Given the description of an element on the screen output the (x, y) to click on. 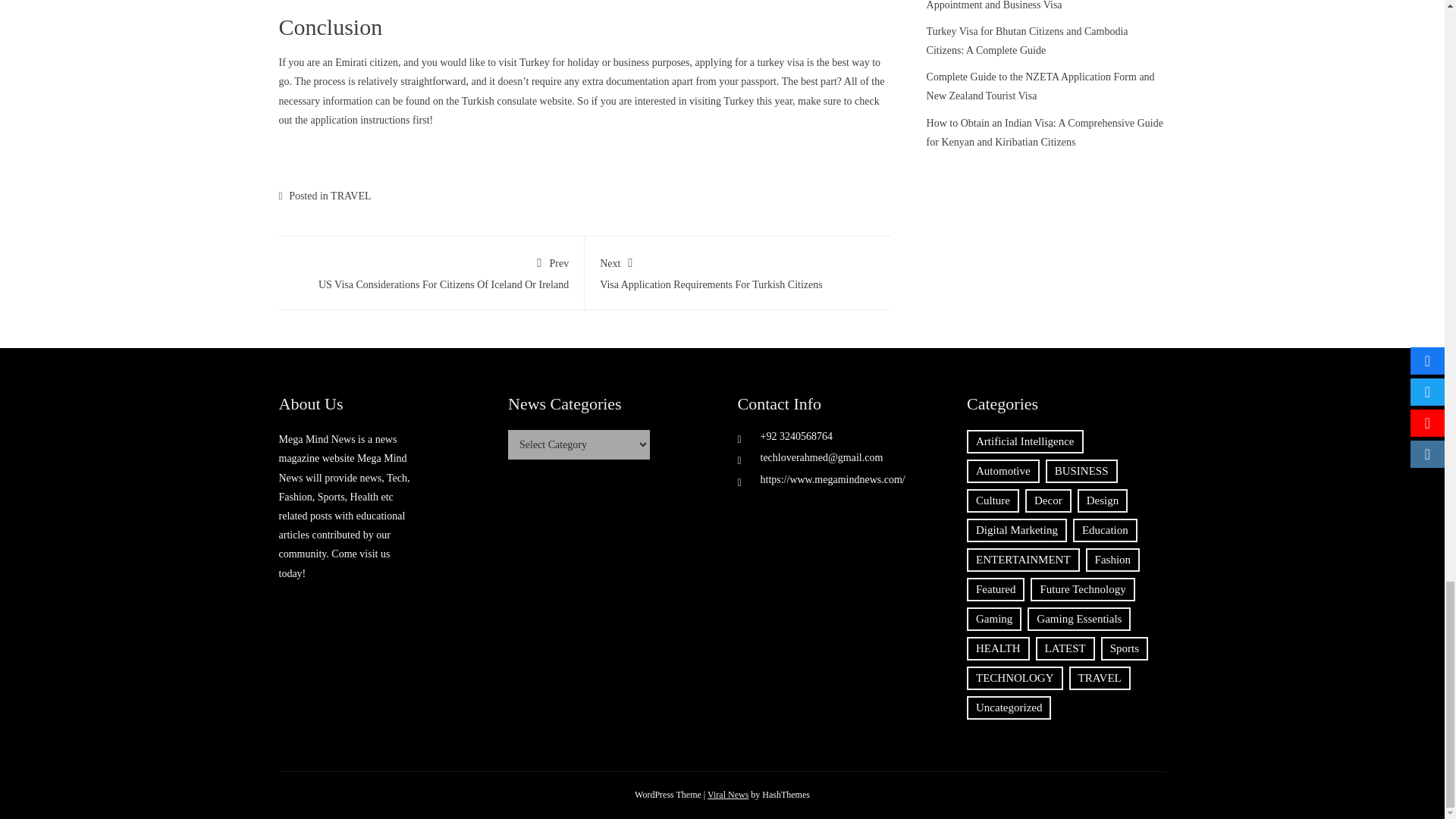
Download Viral News (737, 270)
TRAVEL (727, 794)
